Given the description of an element on the screen output the (x, y) to click on. 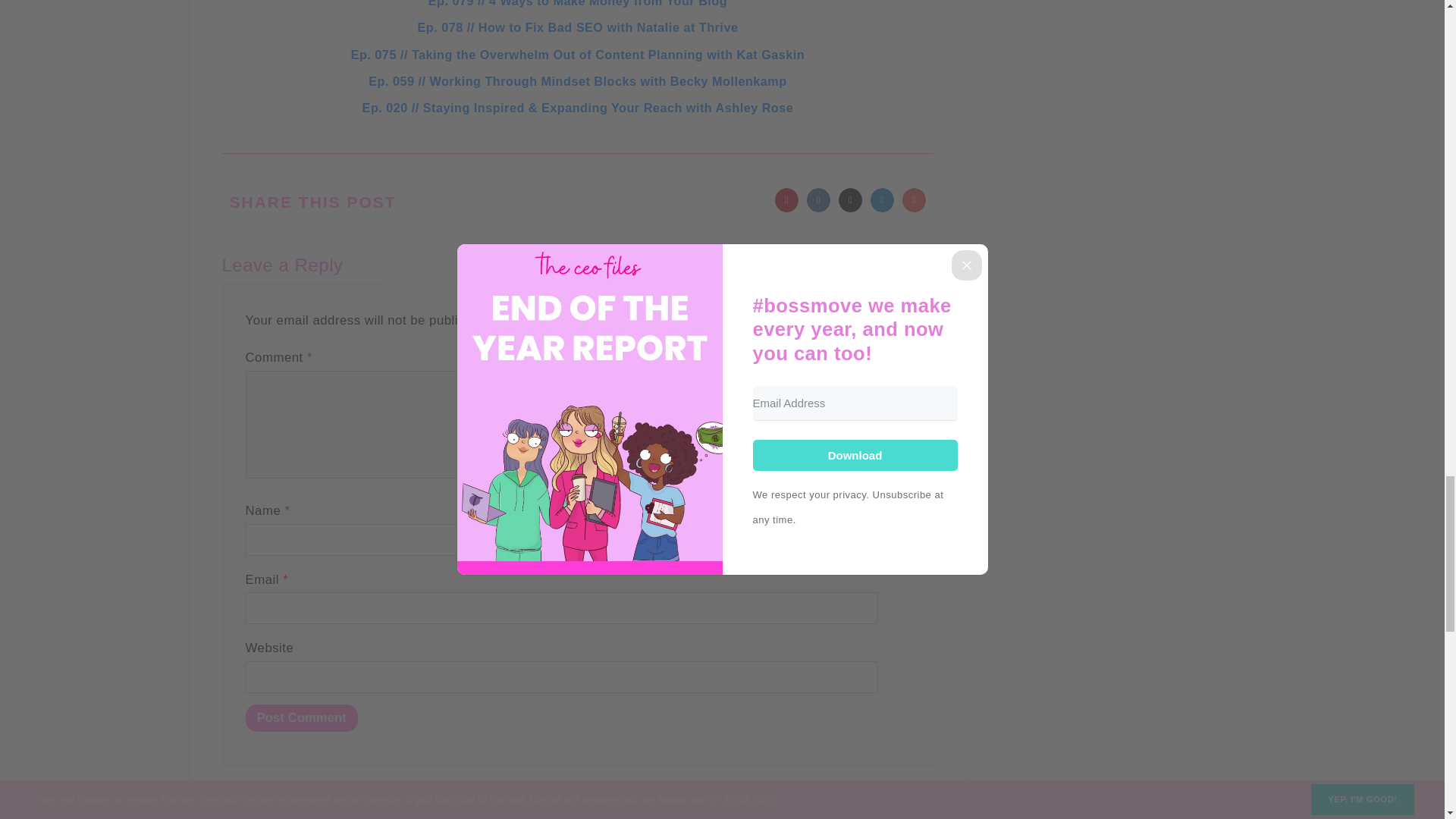
Post Comment (302, 718)
Post Comment (302, 718)
